Given the description of an element on the screen output the (x, y) to click on. 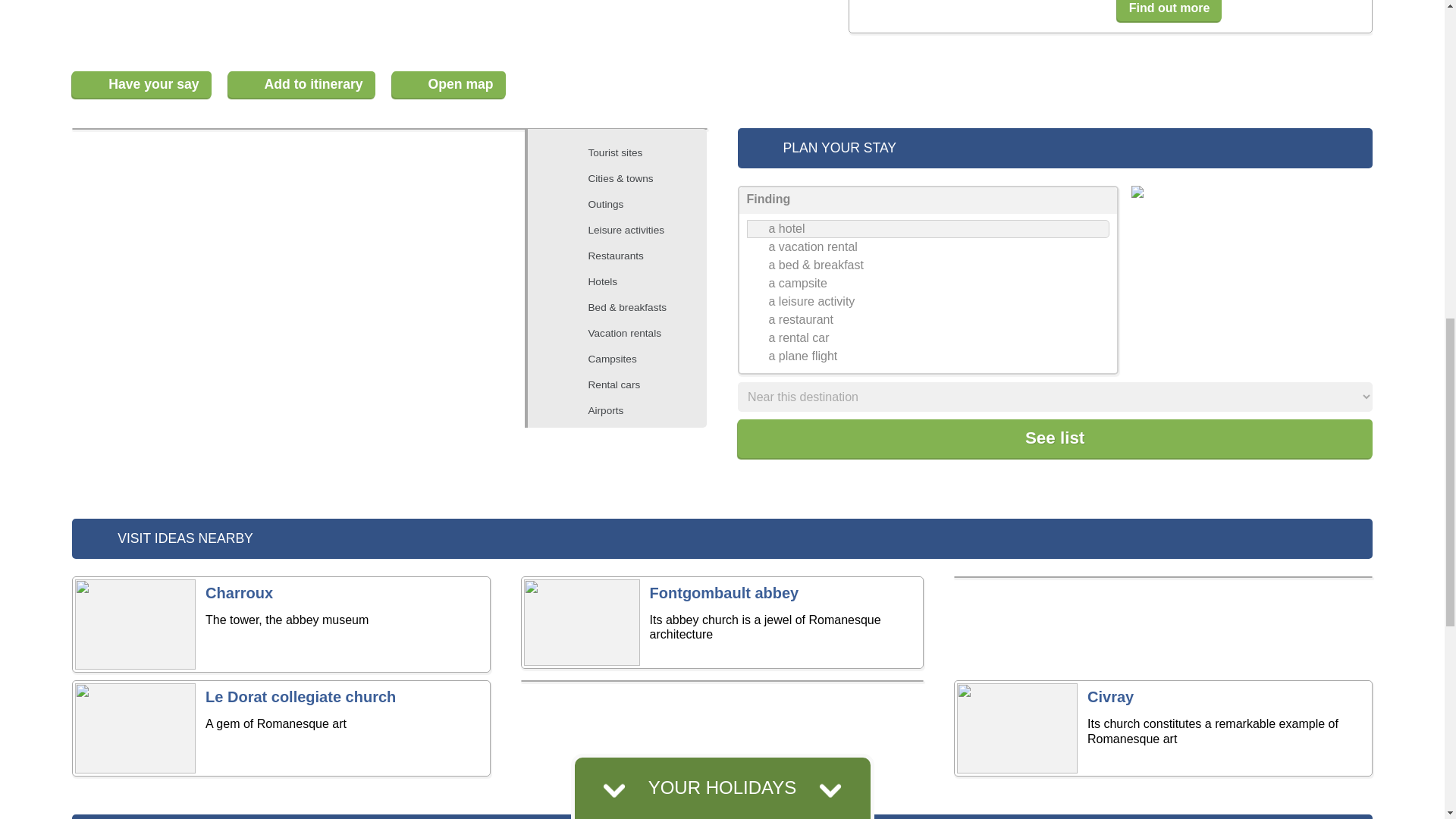
Vacation rentals (624, 333)
Leisure activities (624, 230)
Rental cars (624, 384)
Restaurants (624, 256)
Hotels (624, 281)
Airports (624, 411)
Outings (624, 204)
Tourist sites (624, 153)
Campsites (624, 359)
